Given the description of an element on the screen output the (x, y) to click on. 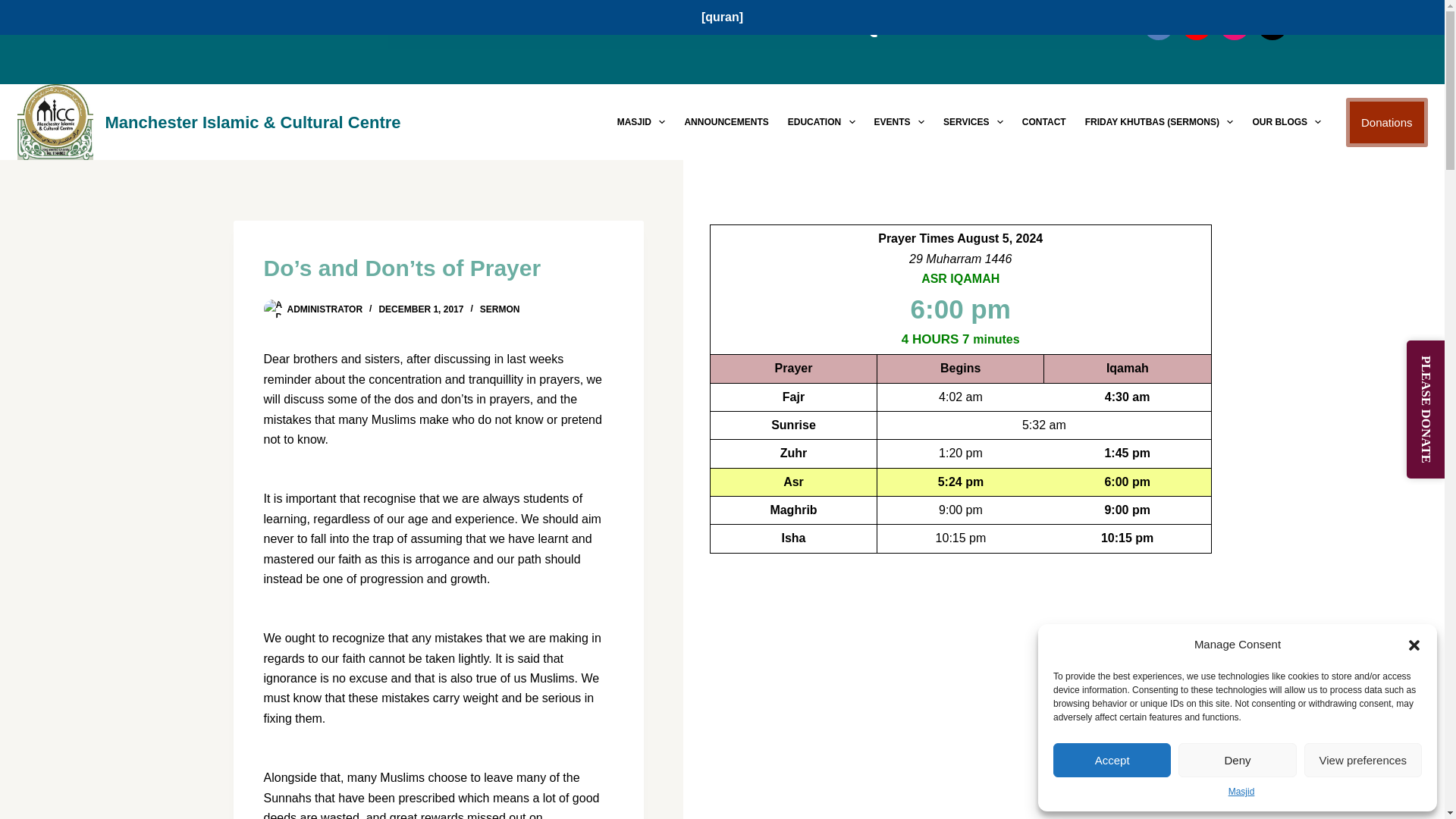
Masjid (1241, 792)
View preferences (1363, 759)
Accept (1111, 759)
Deny (1236, 759)
Skip to content (15, 7)
Posts by Administrator (324, 308)
